Given the description of an element on the screen output the (x, y) to click on. 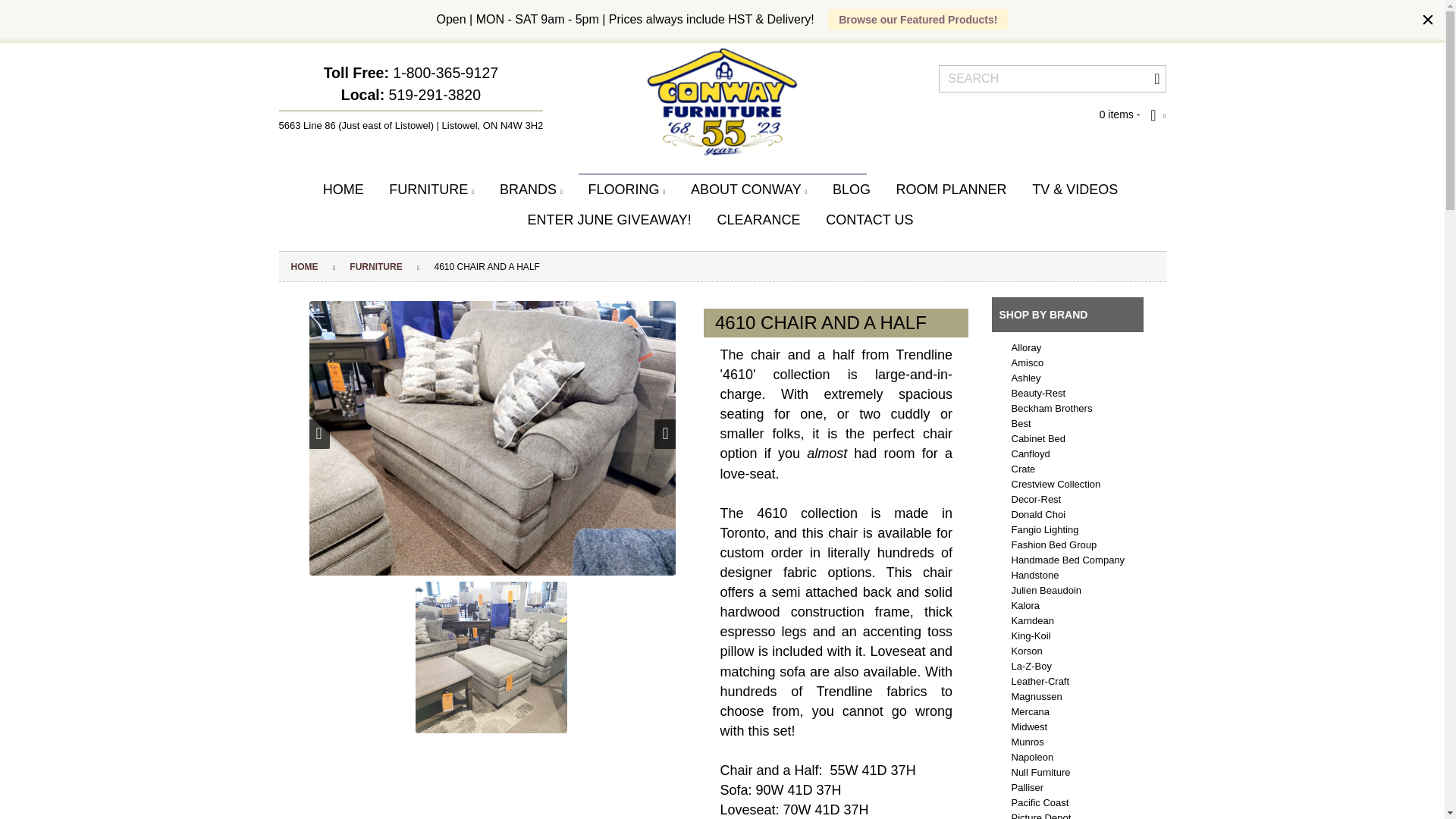
0 items - (1132, 114)
HOME (343, 189)
FURNITURE (430, 189)
Back to the frontpage (304, 266)
Conway Furniture (722, 101)
Browse our Featured Products! (917, 19)
